Given the description of an element on the screen output the (x, y) to click on. 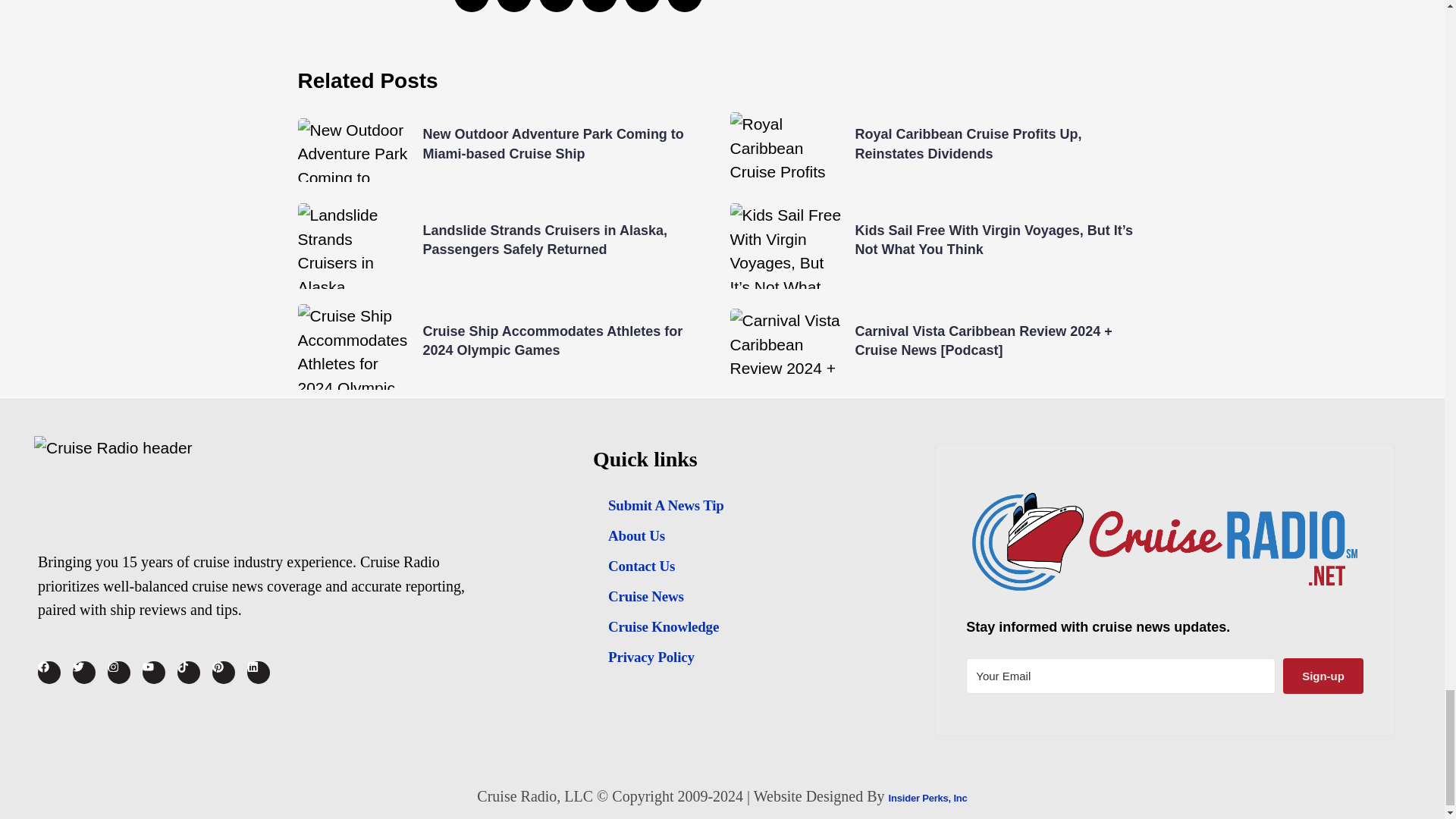
Royal Caribbean Cruise Profits Up, Reinstates Dividends (968, 143)
New Outdoor Adventure Park Coming to Miami-based Cruise Ship (553, 143)
Cruise Ship Accommodates Athletes for 2024 Olympic Games (552, 340)
